Given the description of an element on the screen output the (x, y) to click on. 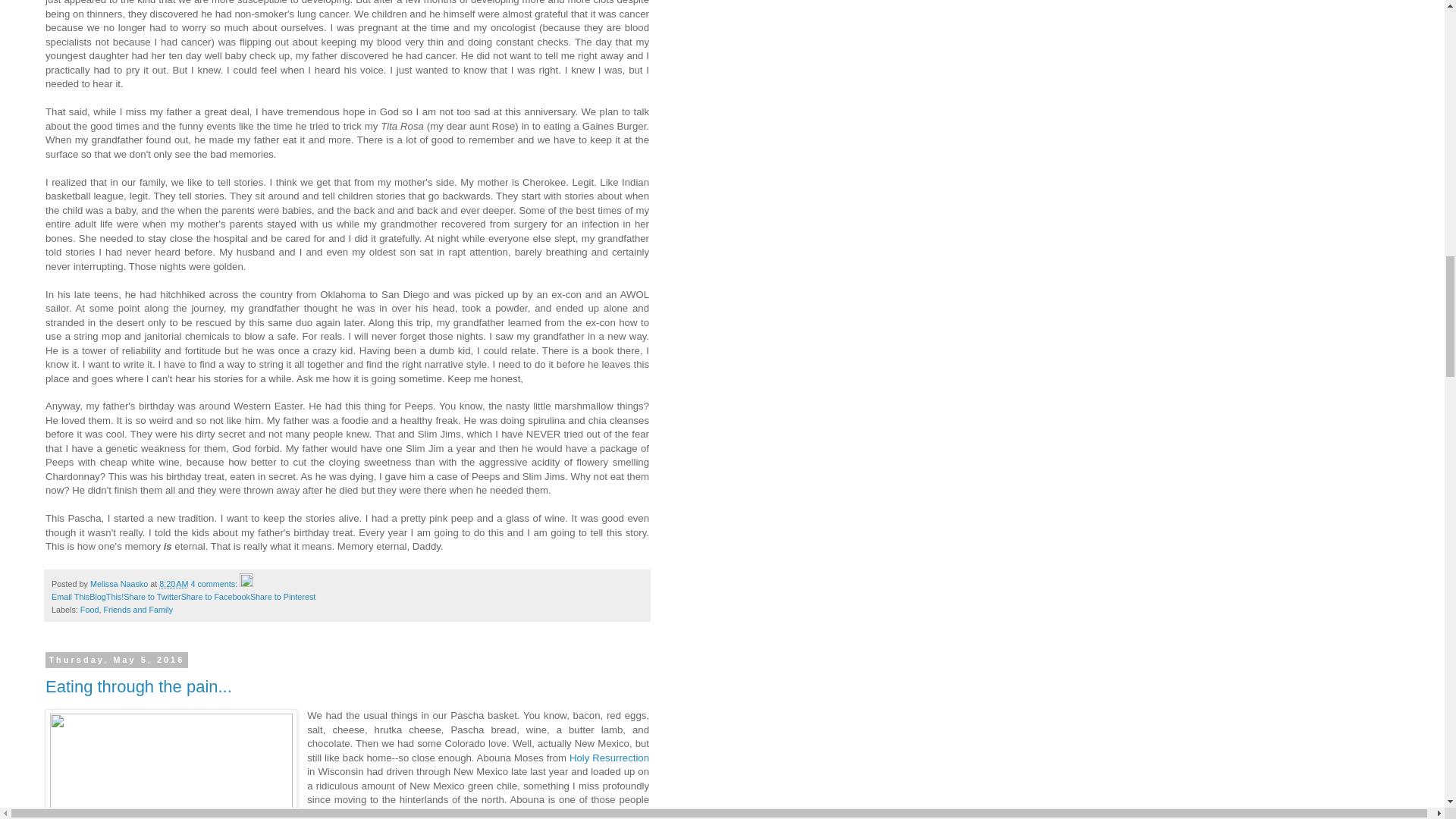
Share to Pinterest (282, 596)
Email This (69, 596)
Edit Post (246, 583)
BlogThis! (105, 596)
4 comments: (215, 583)
Share to Twitter (151, 596)
Share to Facebook (215, 596)
Friends and Family (138, 609)
Food (89, 609)
Email This (69, 596)
Share to Twitter (151, 596)
Melissa Naasko (119, 583)
Share to Facebook (215, 596)
author profile (119, 583)
permanent link (172, 583)
